Given the description of an element on the screen output the (x, y) to click on. 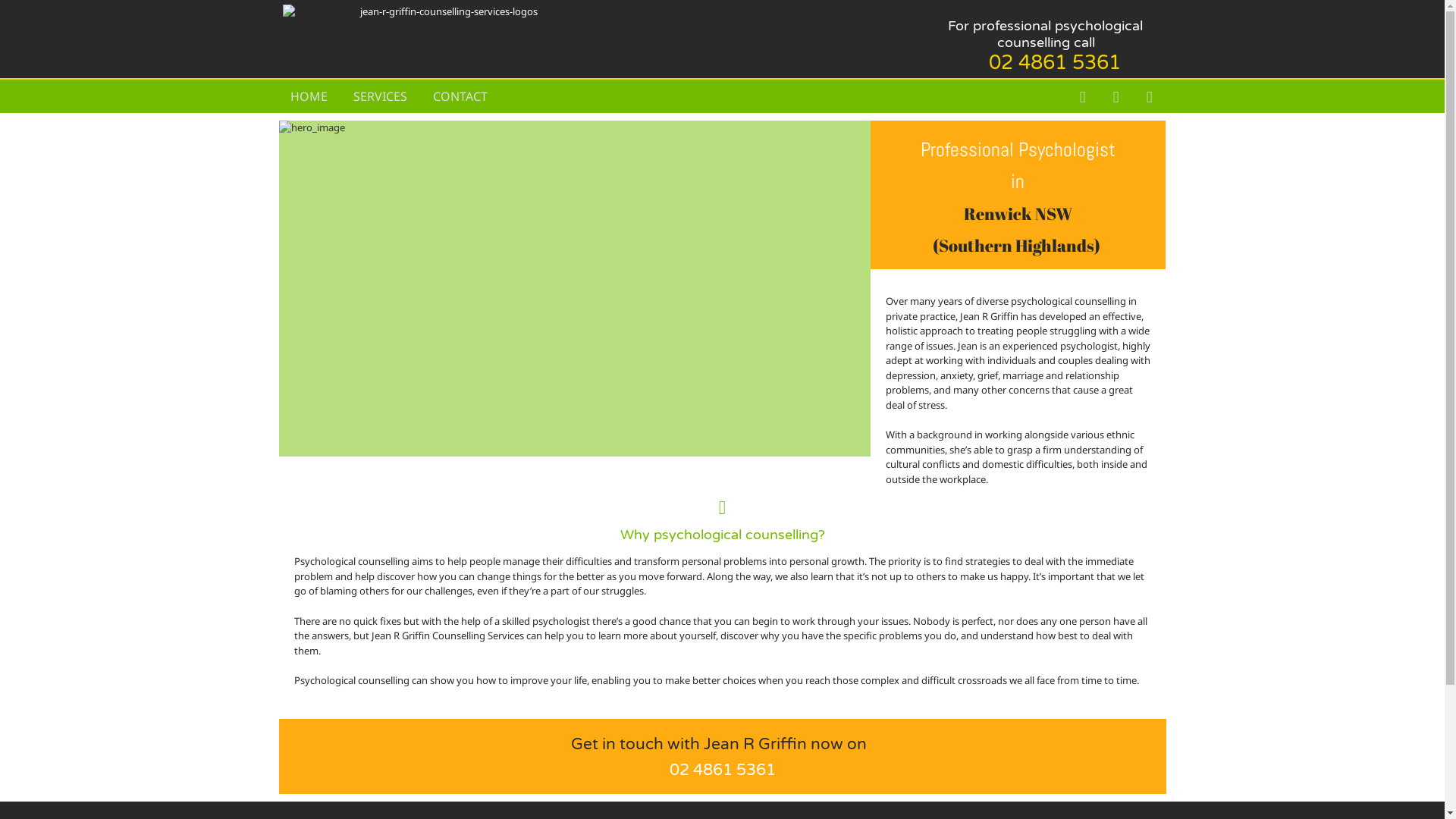
02 4861 5361 Element type: text (1054, 62)
CONTACT Element type: text (459, 96)
HOME Element type: text (307, 96)
SERVICES Element type: text (380, 96)
jean-r-griffin-counselling-services-logos Element type: hover (442, 11)
hero_image Element type: hover (574, 287)
